Given the description of an element on the screen output the (x, y) to click on. 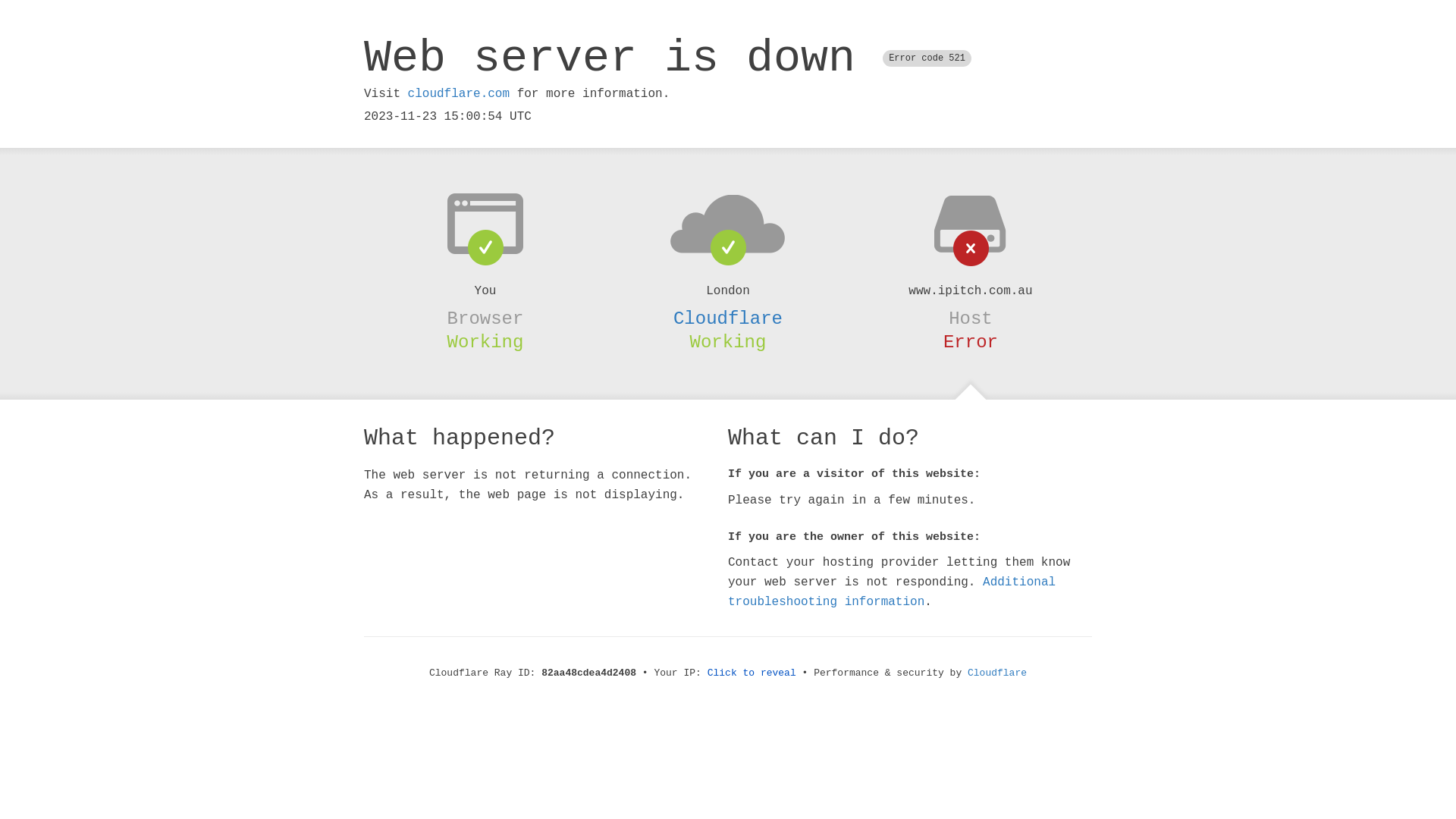
Cloudflare Element type: text (727, 318)
cloudflare.com Element type: text (458, 93)
Click to reveal Element type: text (751, 672)
Additional troubleshooting information Element type: text (891, 591)
Cloudflare Element type: text (996, 672)
